Given the description of an element on the screen output the (x, y) to click on. 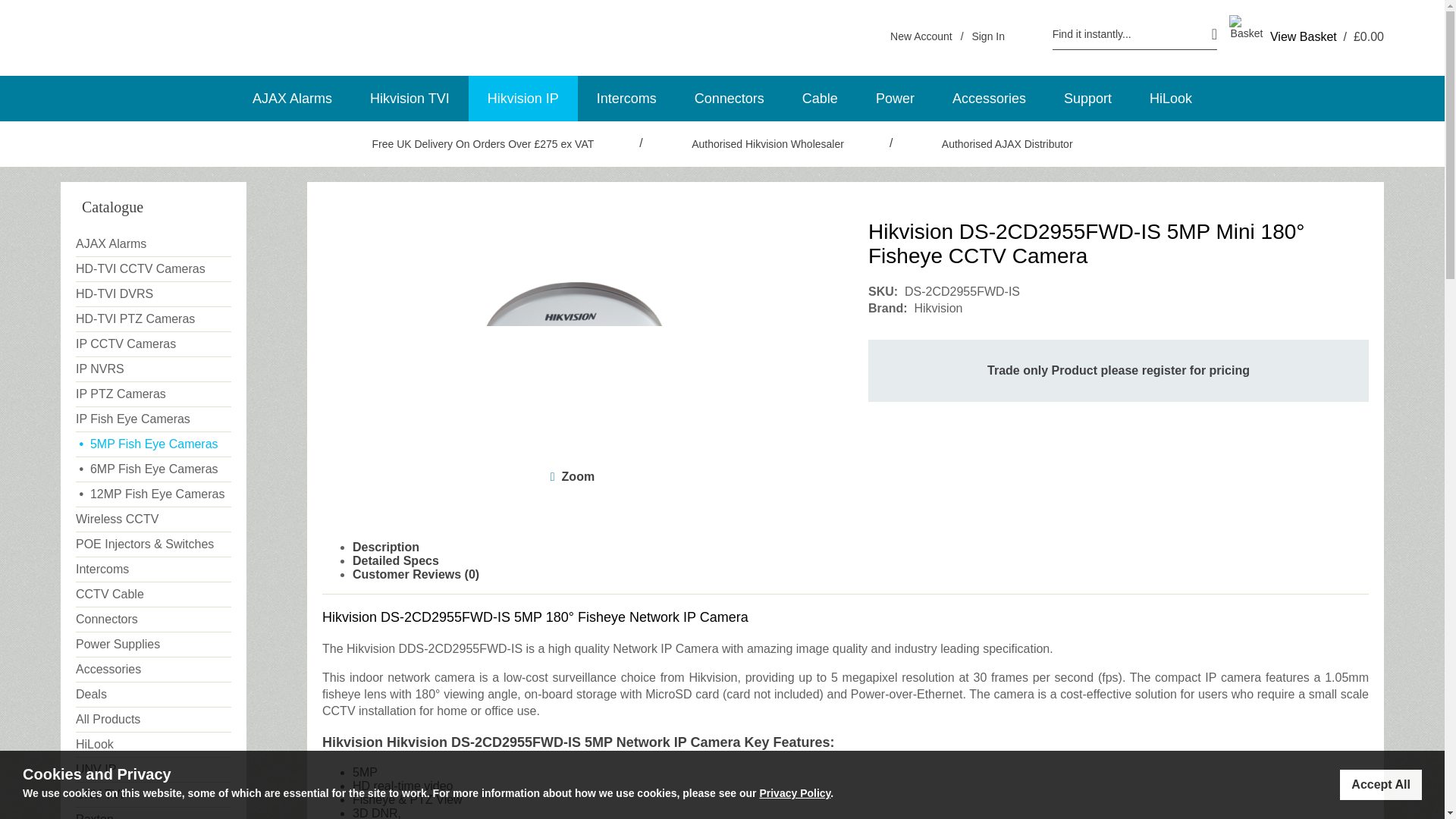
Double-click to edit (464, 648)
Accessories (153, 669)
Deals (153, 694)
UNV TVI (153, 794)
Double-click to edit (515, 742)
Description (385, 546)
Wireless CCTV (153, 519)
Power Supplies (153, 644)
IP CCTV Cameras (153, 344)
Double-click to edit (598, 616)
